Given the description of an element on the screen output the (x, y) to click on. 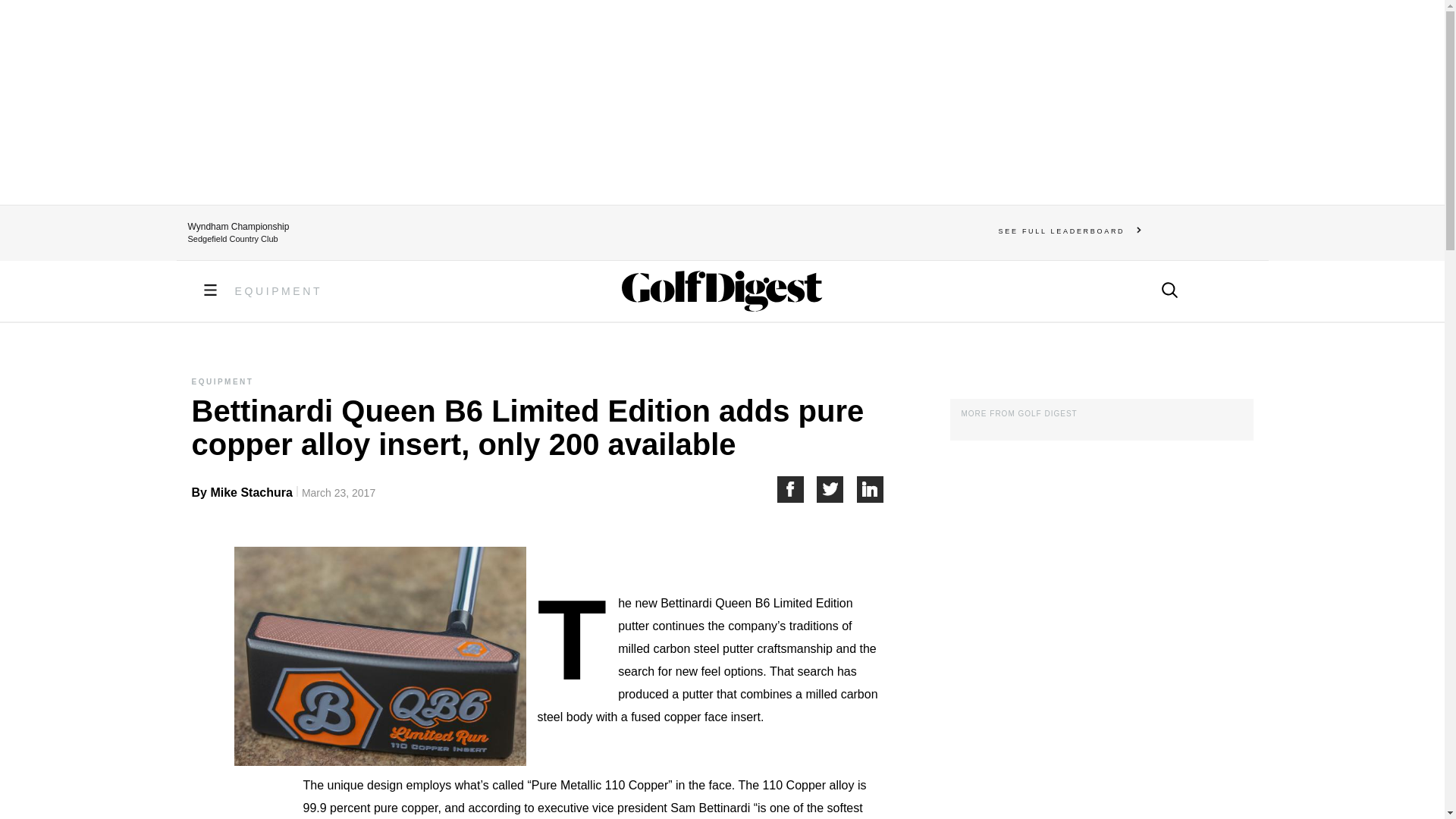
Share on LinkedIn (870, 488)
Share on Twitter (836, 488)
SEE FULL LEADERBOARD (1069, 230)
EQUIPMENT (278, 291)
Share on Facebook (796, 488)
